Given the description of an element on the screen output the (x, y) to click on. 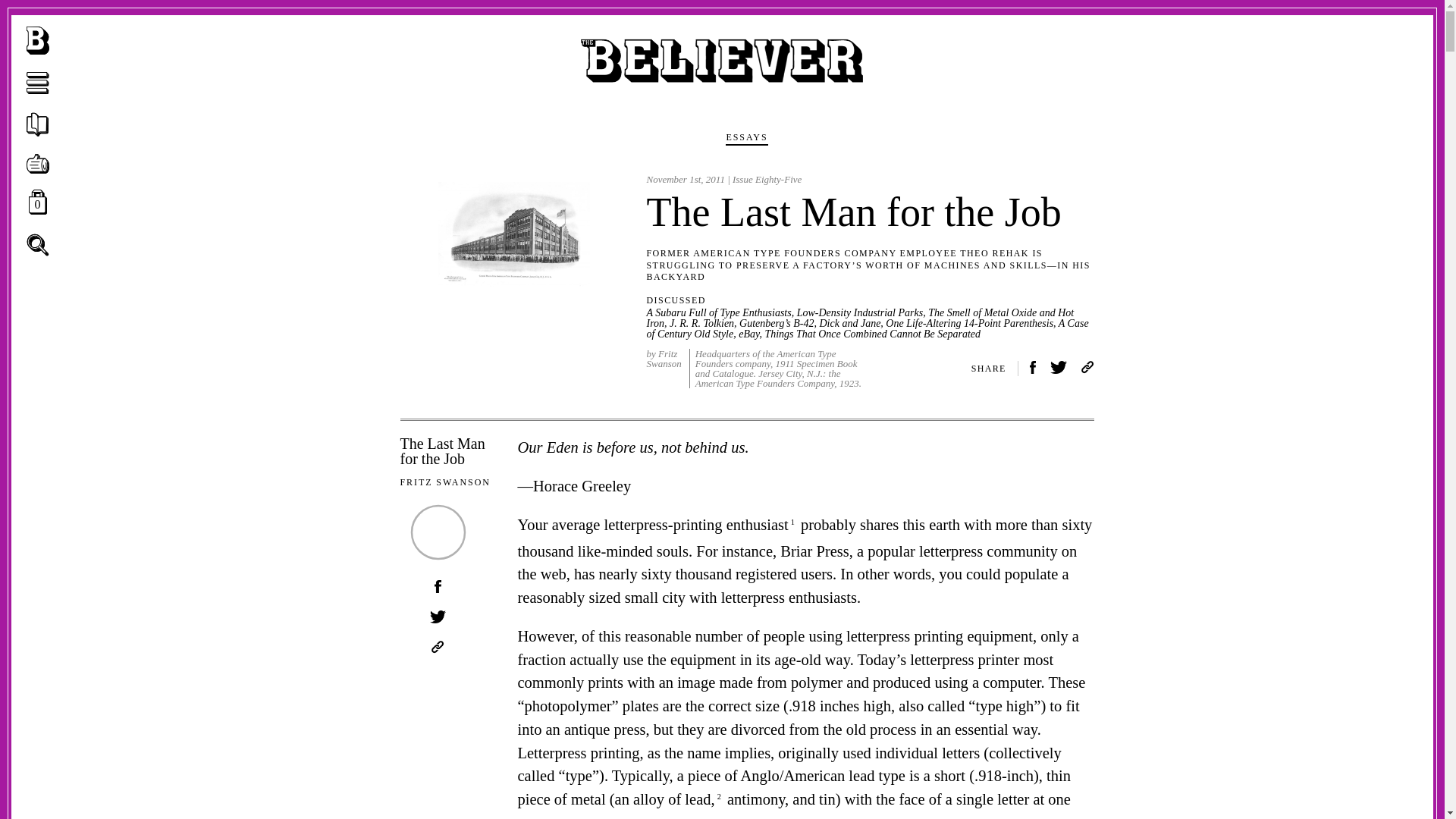
Search (37, 84)
logger (37, 244)
Tweet this! (37, 163)
Discover (1058, 369)
hamburger (37, 164)
Tweet this! (37, 245)
